Given the description of an element on the screen output the (x, y) to click on. 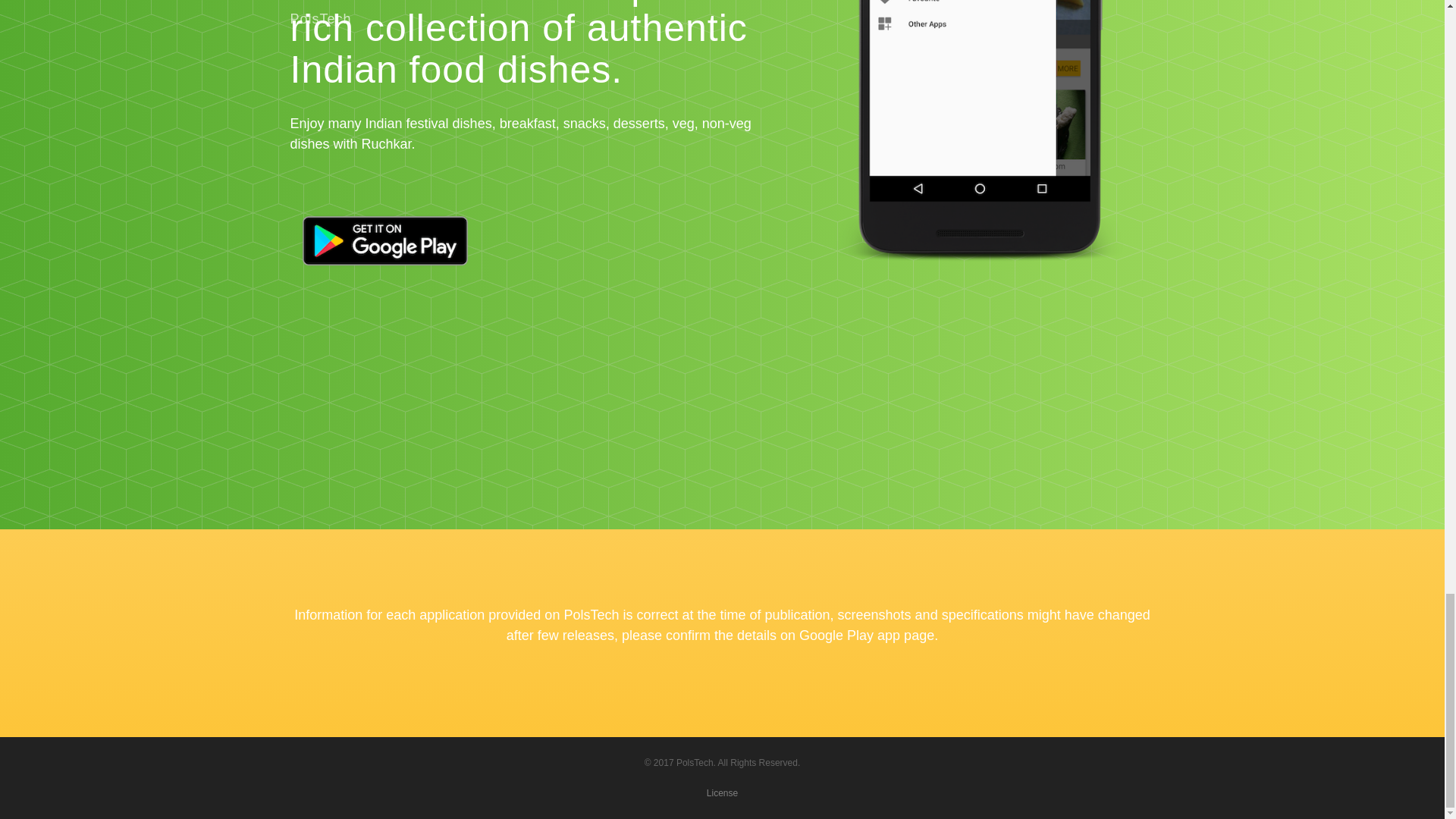
License (722, 792)
Ruchkar Indian Recipes (981, 152)
